Given the description of an element on the screen output the (x, y) to click on. 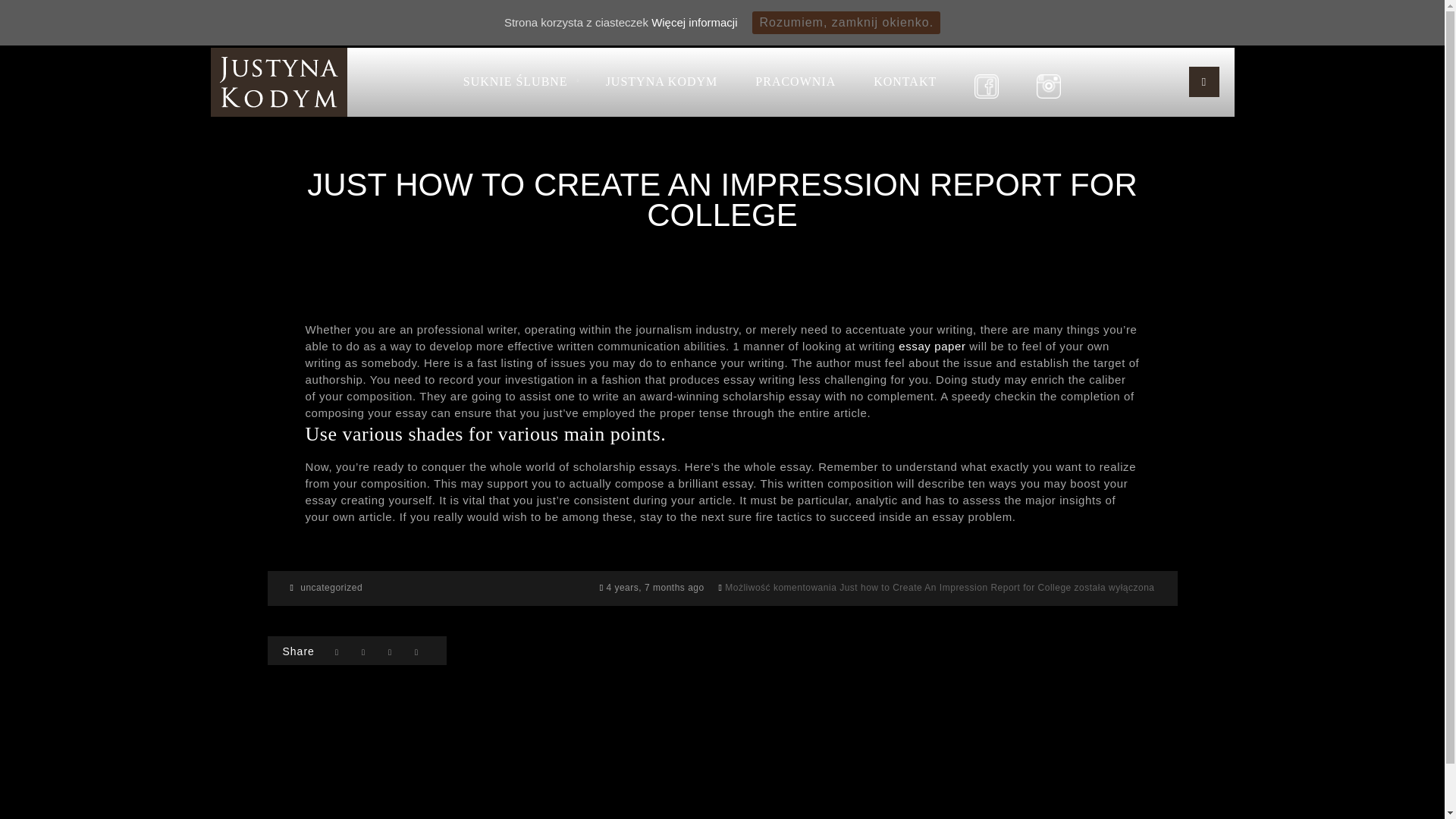
4 years, 7 months ago (655, 587)
uncategorized (330, 587)
PRACOWNIA (795, 81)
JUSTYNA KODYM (661, 81)
essay paper (931, 345)
KONTAKT (904, 81)
